Given the description of an element on the screen output the (x, y) to click on. 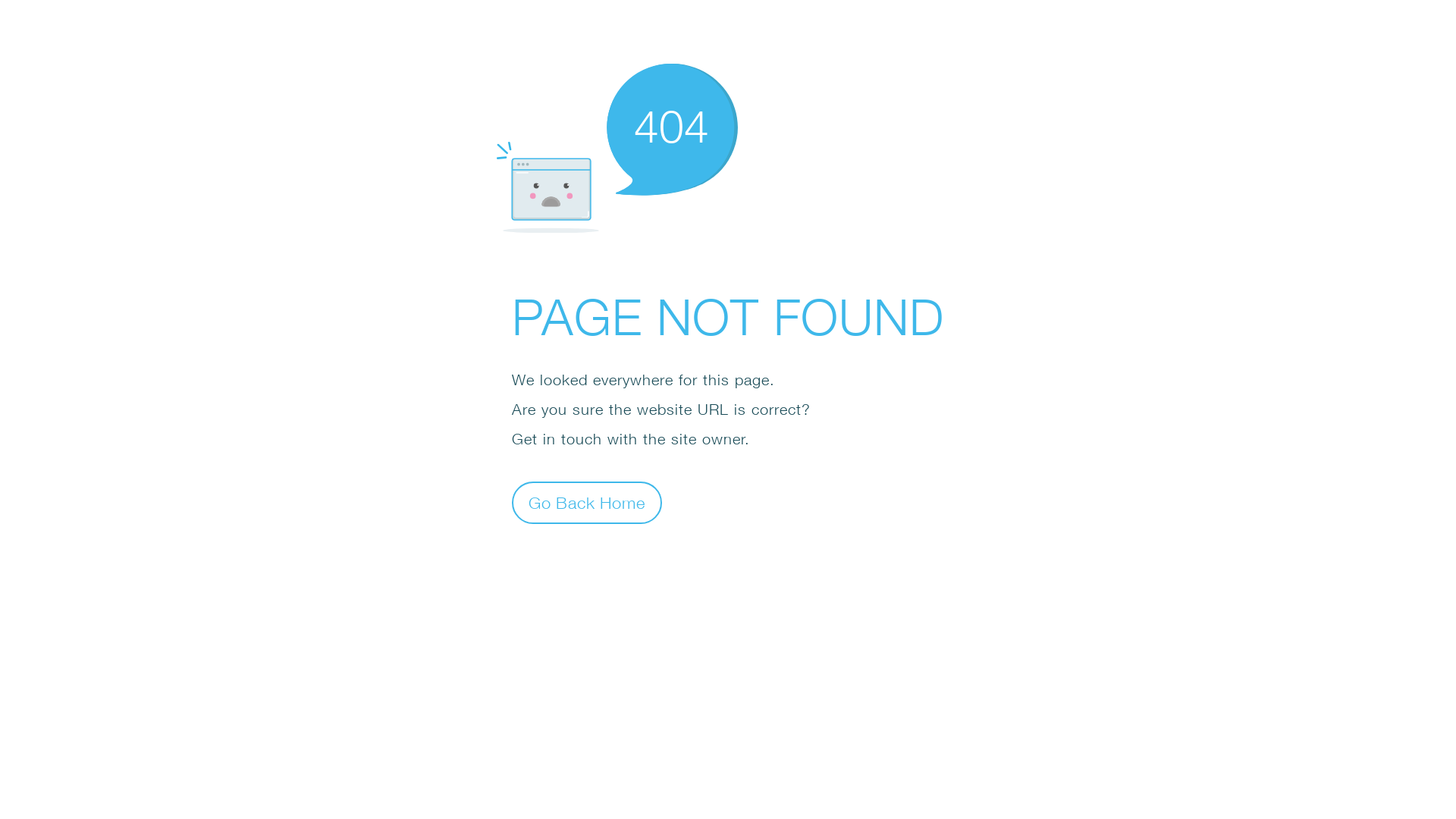
Go Back Home Element type: text (586, 502)
